Given the description of an element on the screen output the (x, y) to click on. 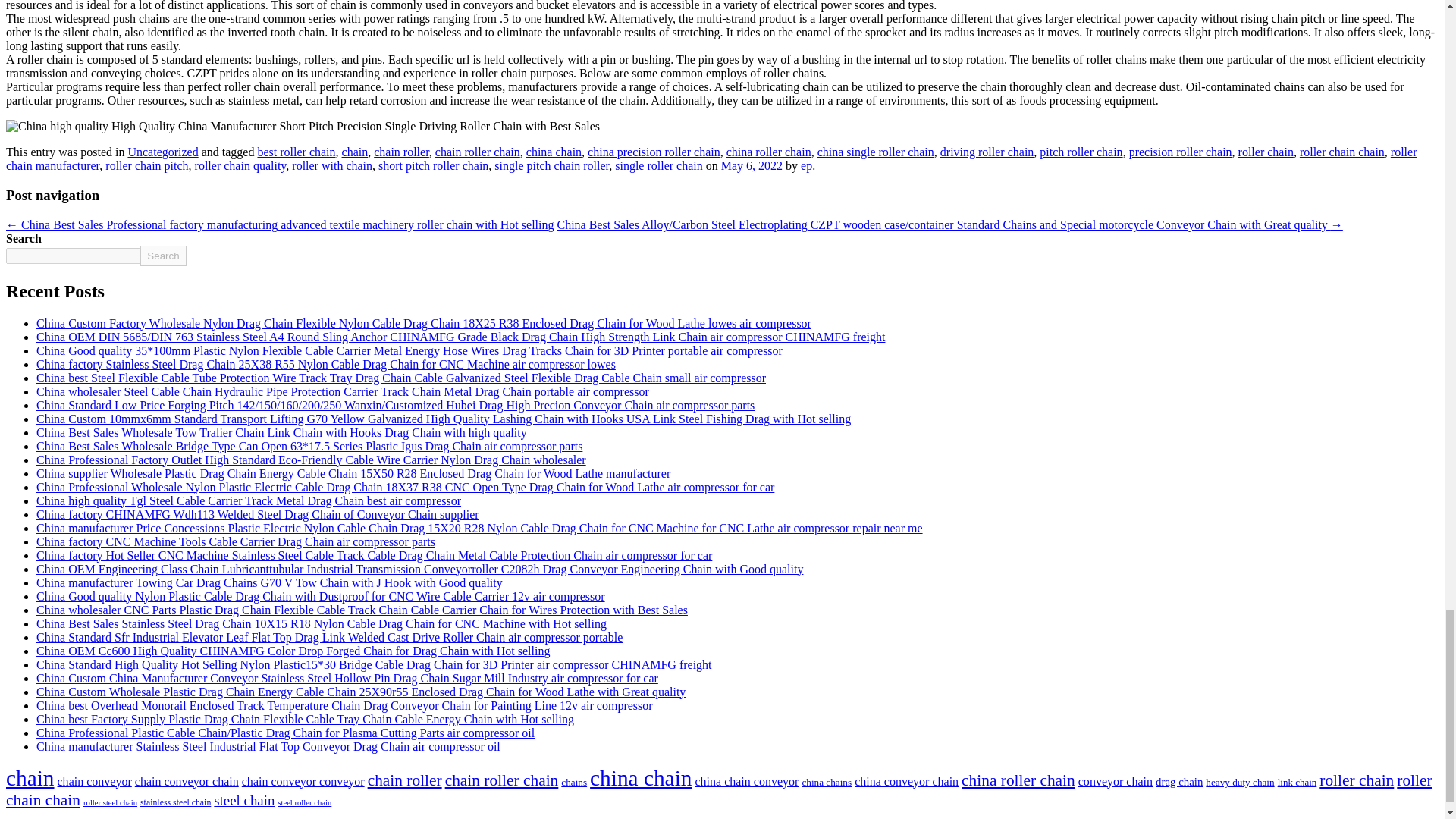
May 6, 2022 (751, 164)
single pitch chain roller (551, 164)
china single roller chain (875, 151)
roller with chain (332, 164)
Uncategorized (163, 151)
chain roller (401, 151)
Search (162, 255)
short pitch roller chain (432, 164)
precision roller chain (1180, 151)
2:11 am (751, 164)
china chain (552, 151)
pitch roller chain (1080, 151)
